Given the description of an element on the screen output the (x, y) to click on. 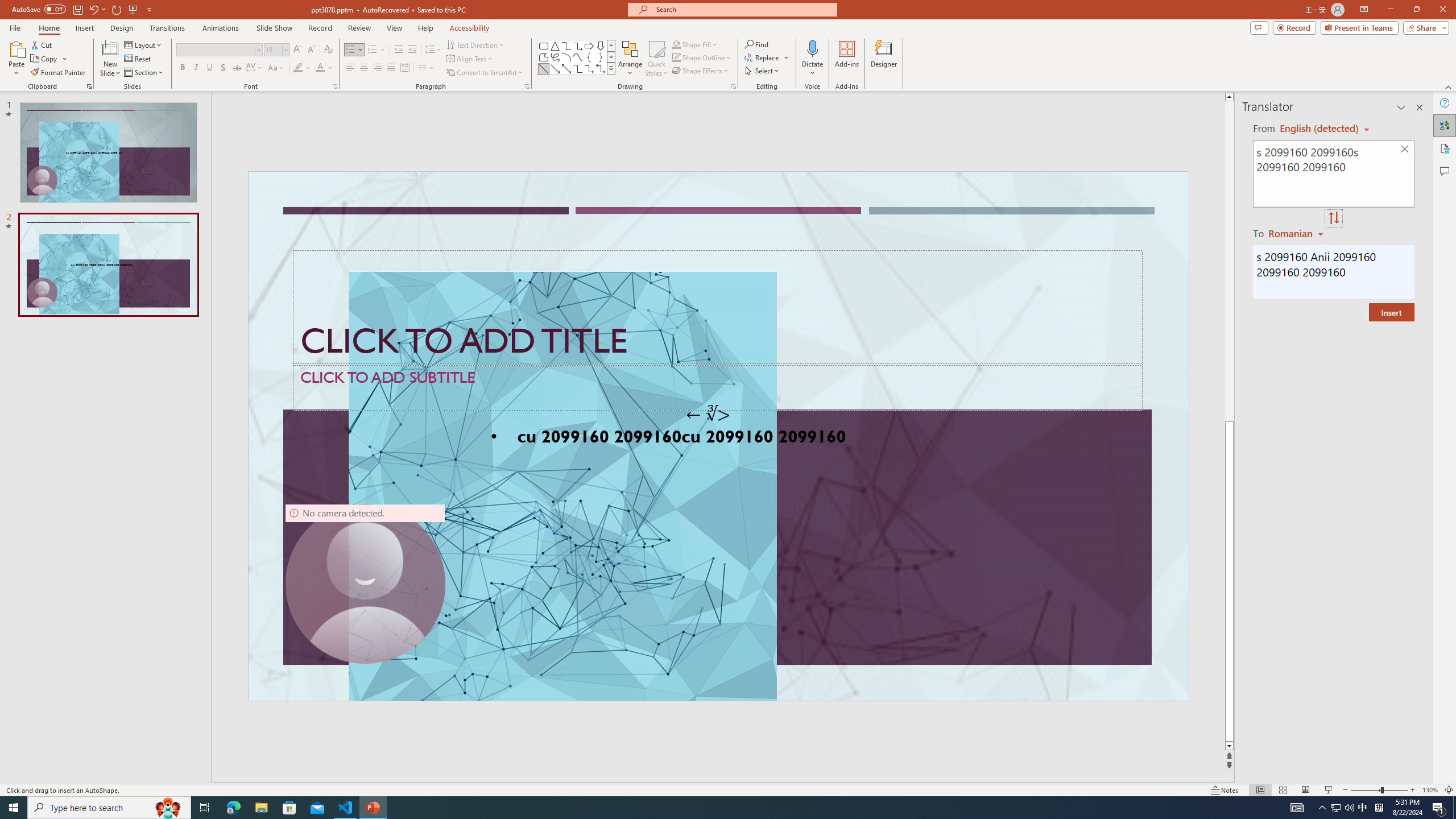
Czech (1296, 232)
Connector: Elbow Double-Arrow (600, 68)
